Given the description of an element on the screen output the (x, y) to click on. 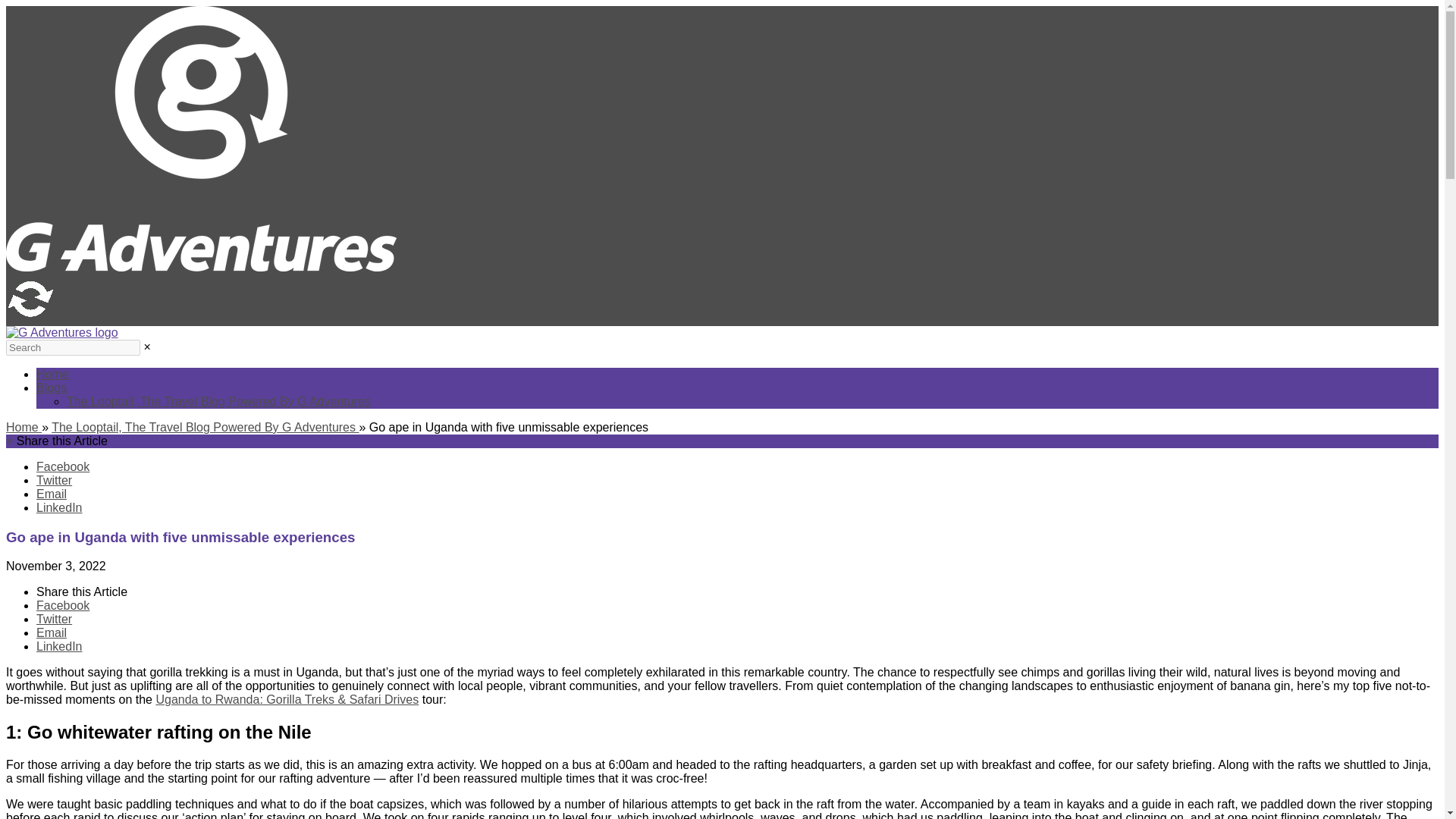
G Adventures (61, 332)
LinkedIn (59, 507)
The Looptail, The Travel Blog Powered By G Adventures (218, 400)
LinkedIn (59, 645)
Email (51, 632)
Blogs (51, 387)
The Looptail, The Travel Blog Powered By G Adventures (204, 427)
Email (51, 493)
Facebook (62, 604)
Facebook (62, 466)
